Given the description of an element on the screen output the (x, y) to click on. 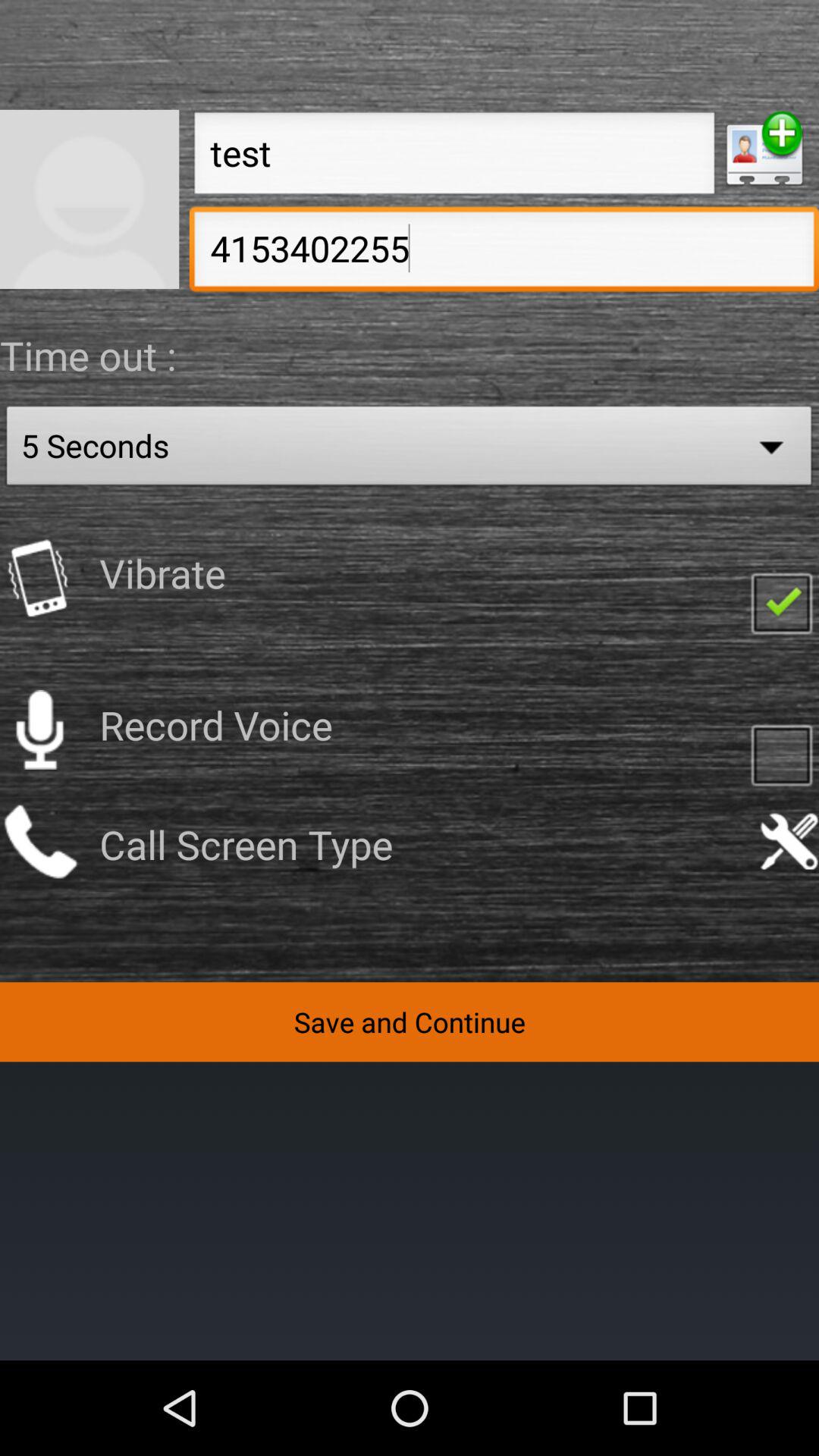
tick (781, 602)
